Given the description of an element on the screen output the (x, y) to click on. 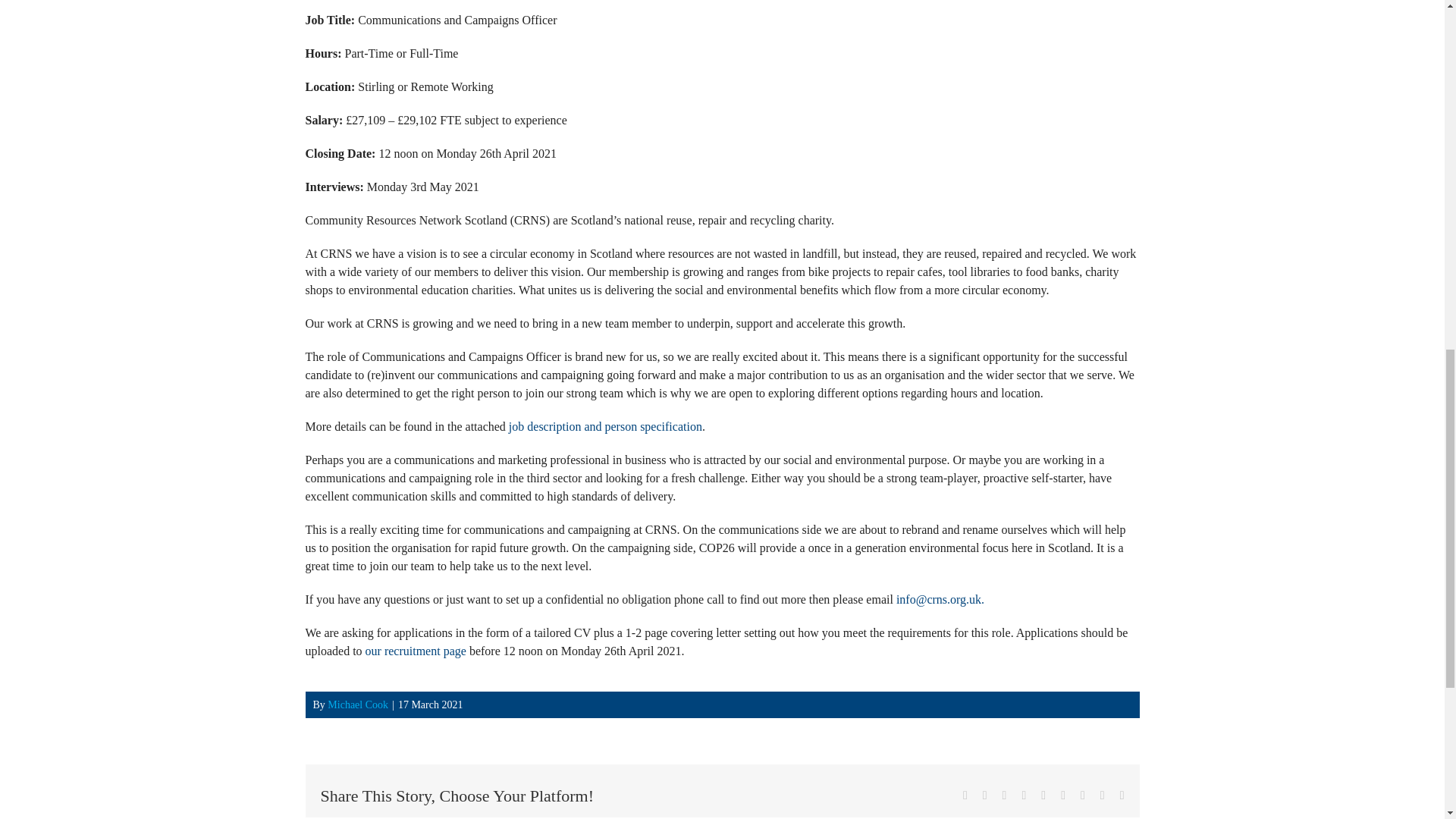
Posts by Michael Cook (357, 704)
job description and person specification (604, 426)
Michael Cook (357, 704)
our recruitment page (415, 650)
